Given the description of an element on the screen output the (x, y) to click on. 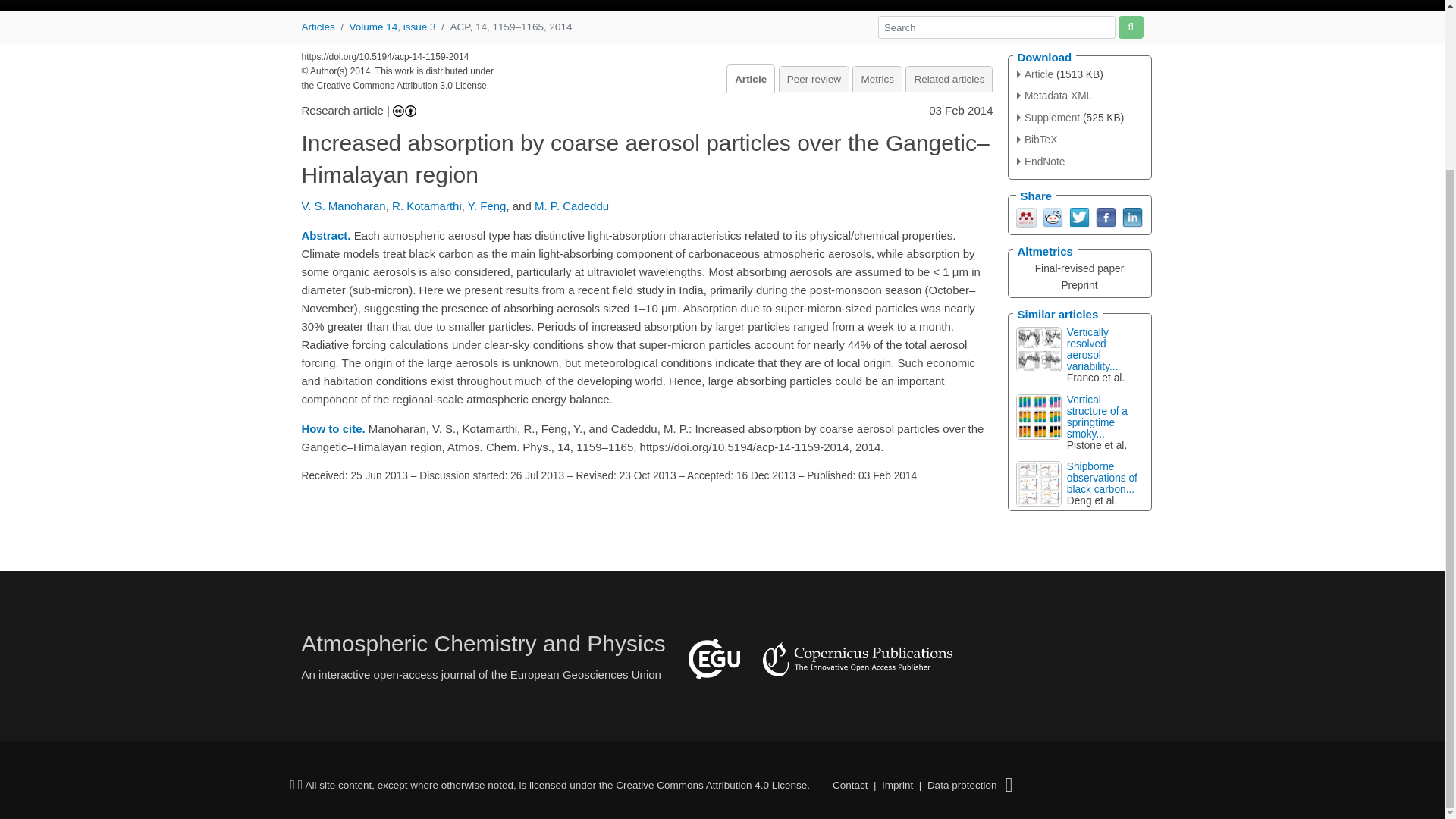
Start site search (1130, 26)
Reddit (1052, 215)
Facebook (1104, 215)
Mendeley (1026, 215)
Twitter (1078, 215)
XML Version (1054, 95)
